Given the description of an element on the screen output the (x, y) to click on. 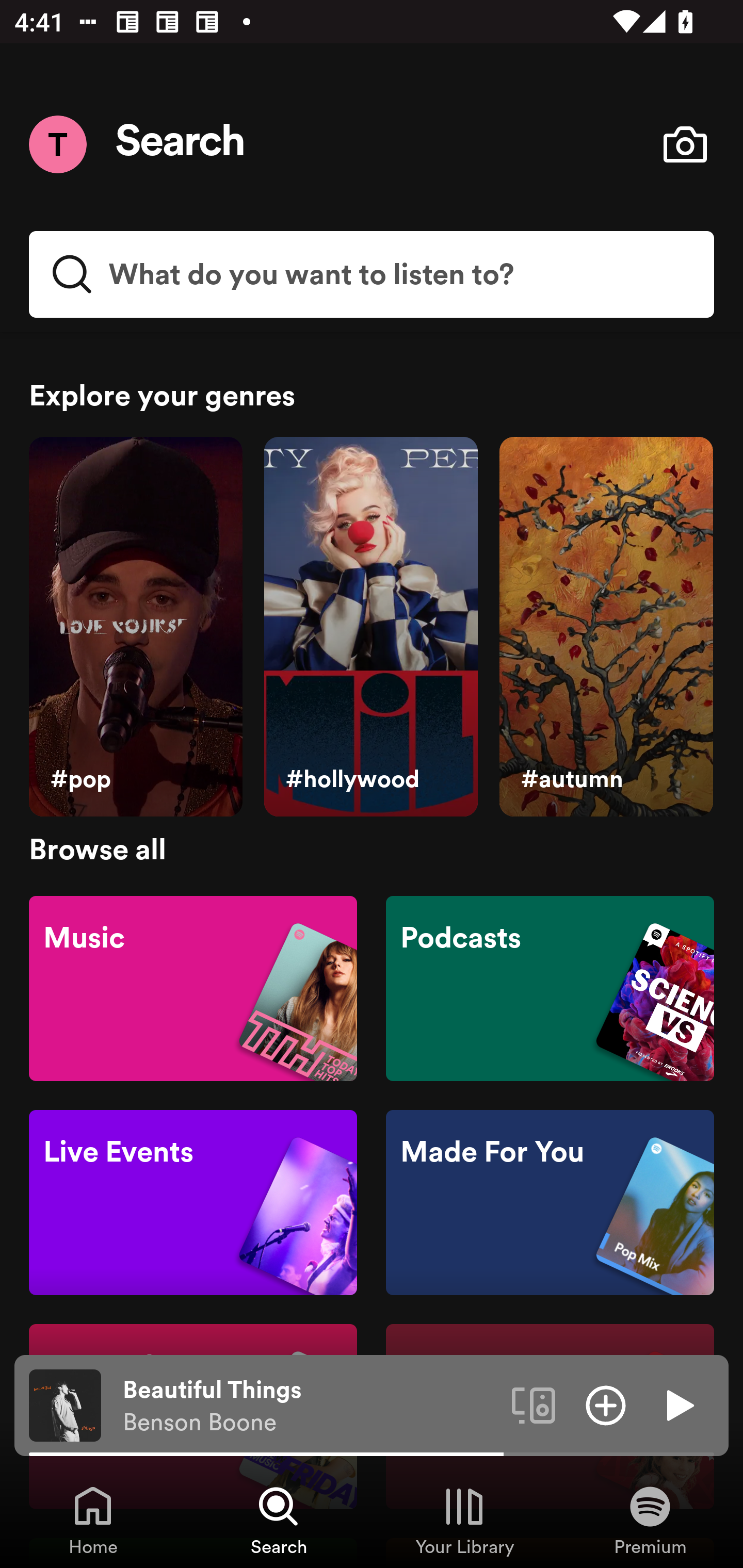
Menu (57, 144)
Open camera (685, 145)
Search (180, 144)
#pop (135, 626)
#hollywood (370, 626)
#autumn (606, 626)
Music (192, 987)
Podcasts (549, 987)
Live Events (192, 1202)
Made For You (549, 1202)
Beautiful Things Benson Boone (309, 1405)
The cover art of the currently playing track (64, 1404)
Connect to a device. Opens the devices menu (533, 1404)
Add item (605, 1404)
Play (677, 1404)
Home, Tab 1 of 4 Home Home (92, 1519)
Search, Tab 2 of 4 Search Search (278, 1519)
Your Library, Tab 3 of 4 Your Library Your Library (464, 1519)
Premium, Tab 4 of 4 Premium Premium (650, 1519)
